Given the description of an element on the screen output the (x, y) to click on. 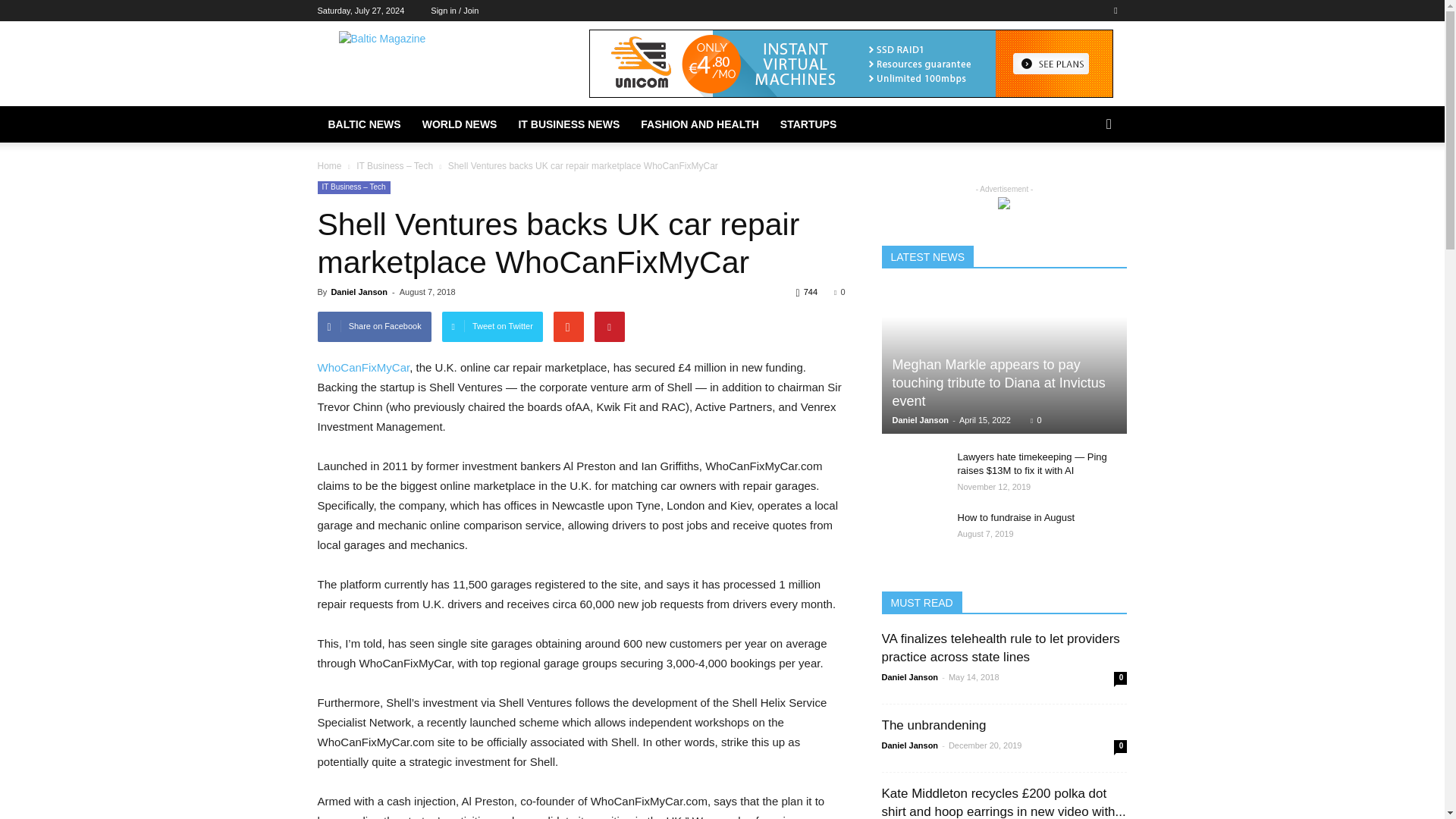
Baltic Magazine (445, 65)
Facebook (1114, 10)
BALTIC NEWS (363, 124)
